Given the description of an element on the screen output the (x, y) to click on. 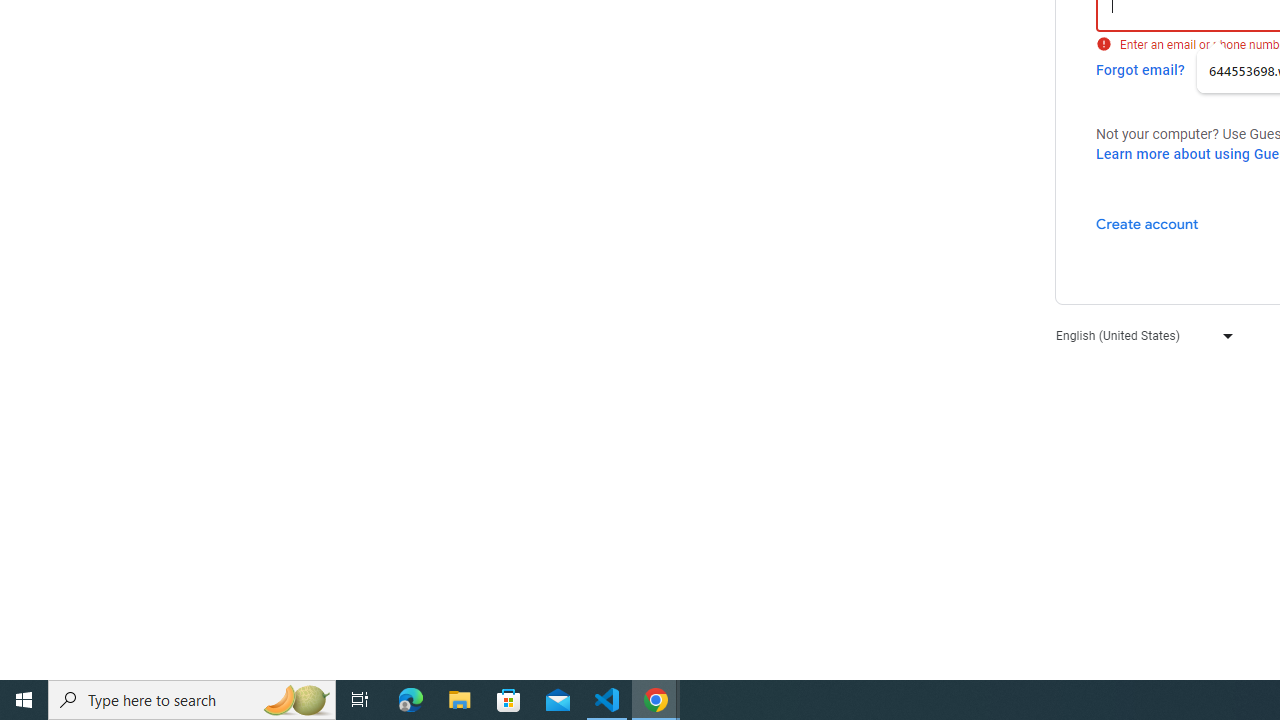
Forgot email? (1140, 69)
English (United States) (1139, 335)
Create account (1146, 223)
